Given the description of an element on the screen output the (x, y) to click on. 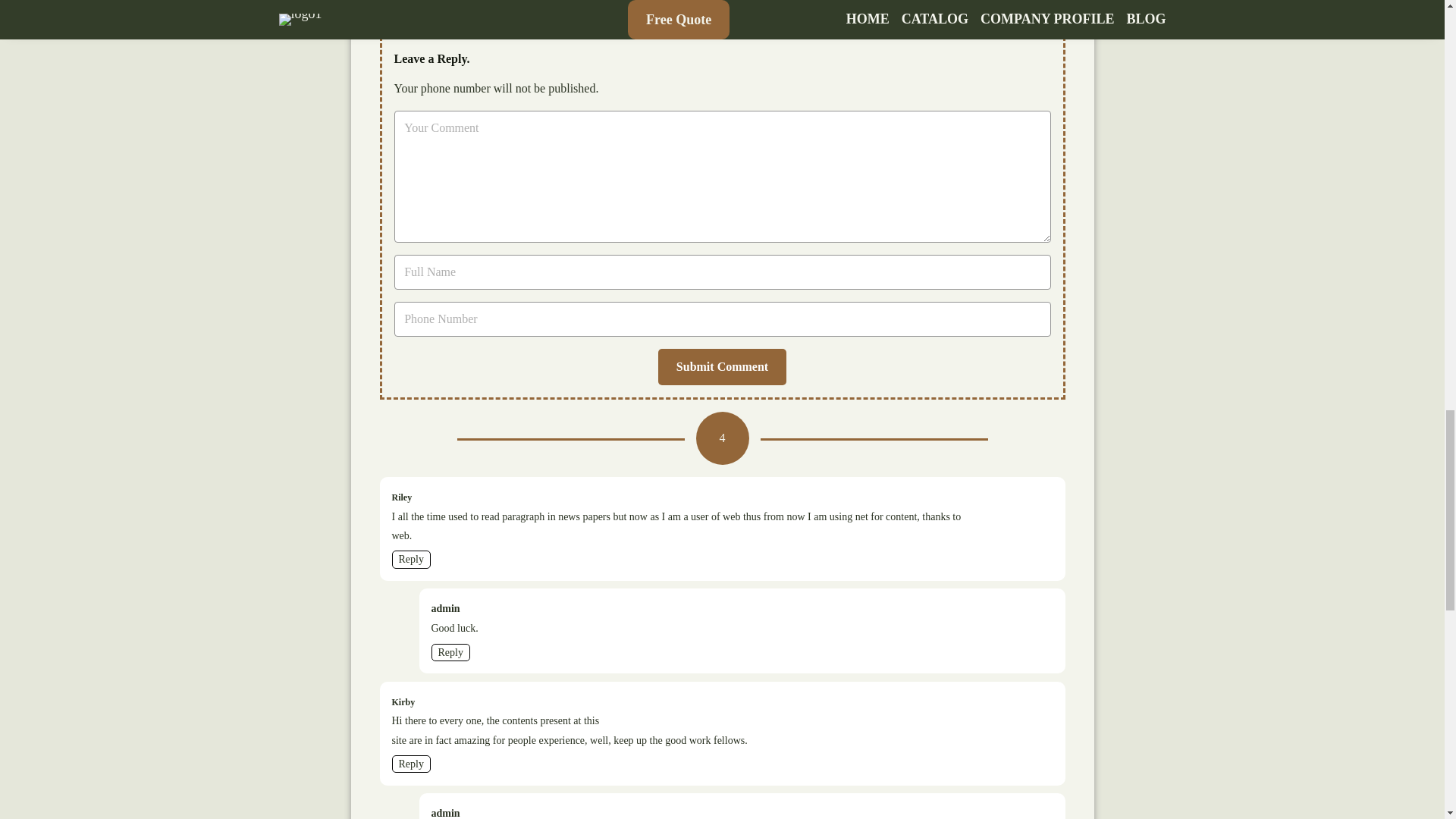
Reply (410, 764)
Kirby (402, 702)
Submit Comment (722, 366)
Reply (449, 651)
Submit Comment (722, 366)
Reply (410, 559)
Riley (401, 497)
